Given the description of an element on the screen output the (x, y) to click on. 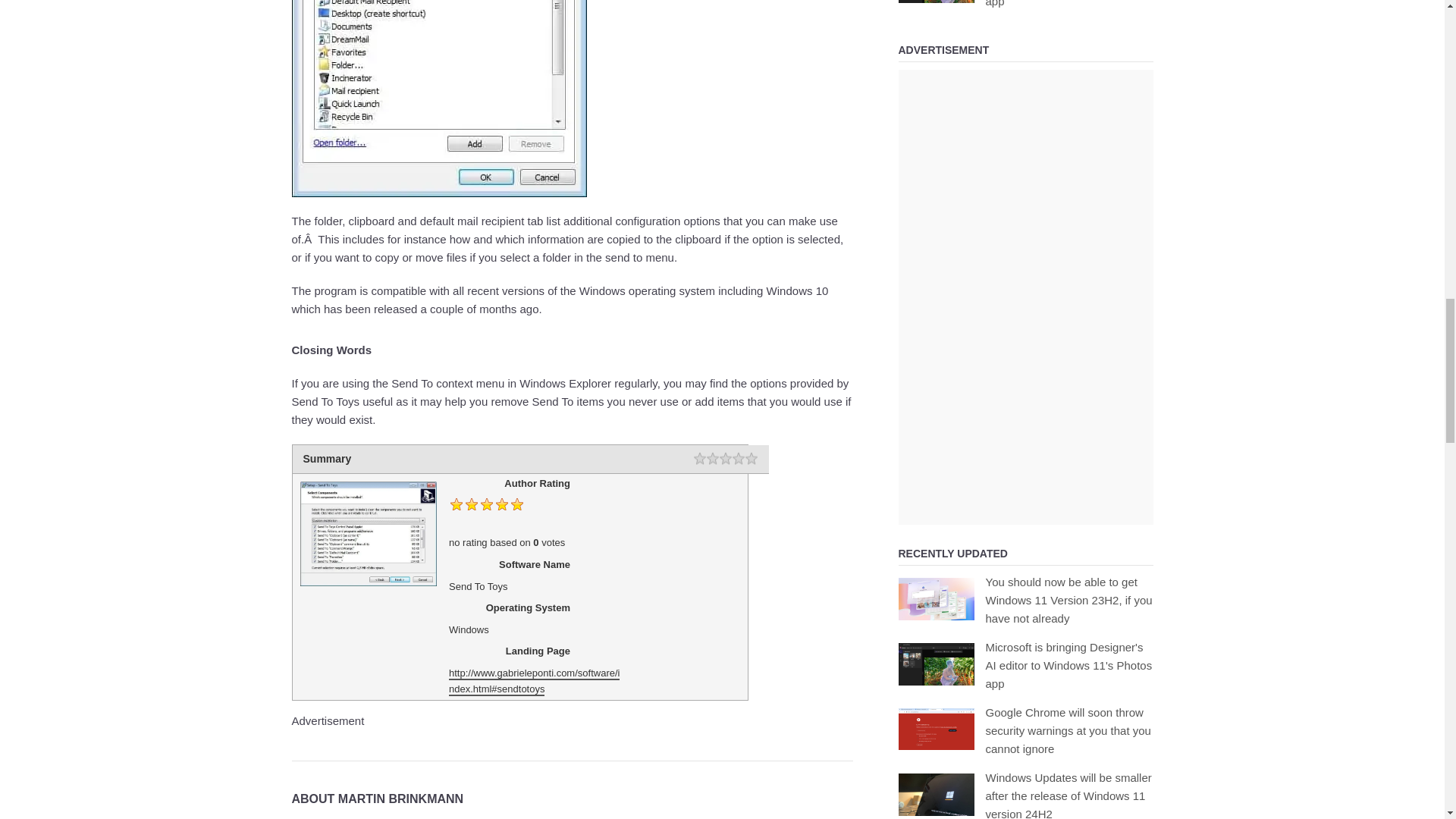
Cancel Rating (687, 459)
2 (712, 459)
5 (750, 459)
3 (724, 459)
1 (698, 459)
4 (738, 459)
